Given the description of an element on the screen output the (x, y) to click on. 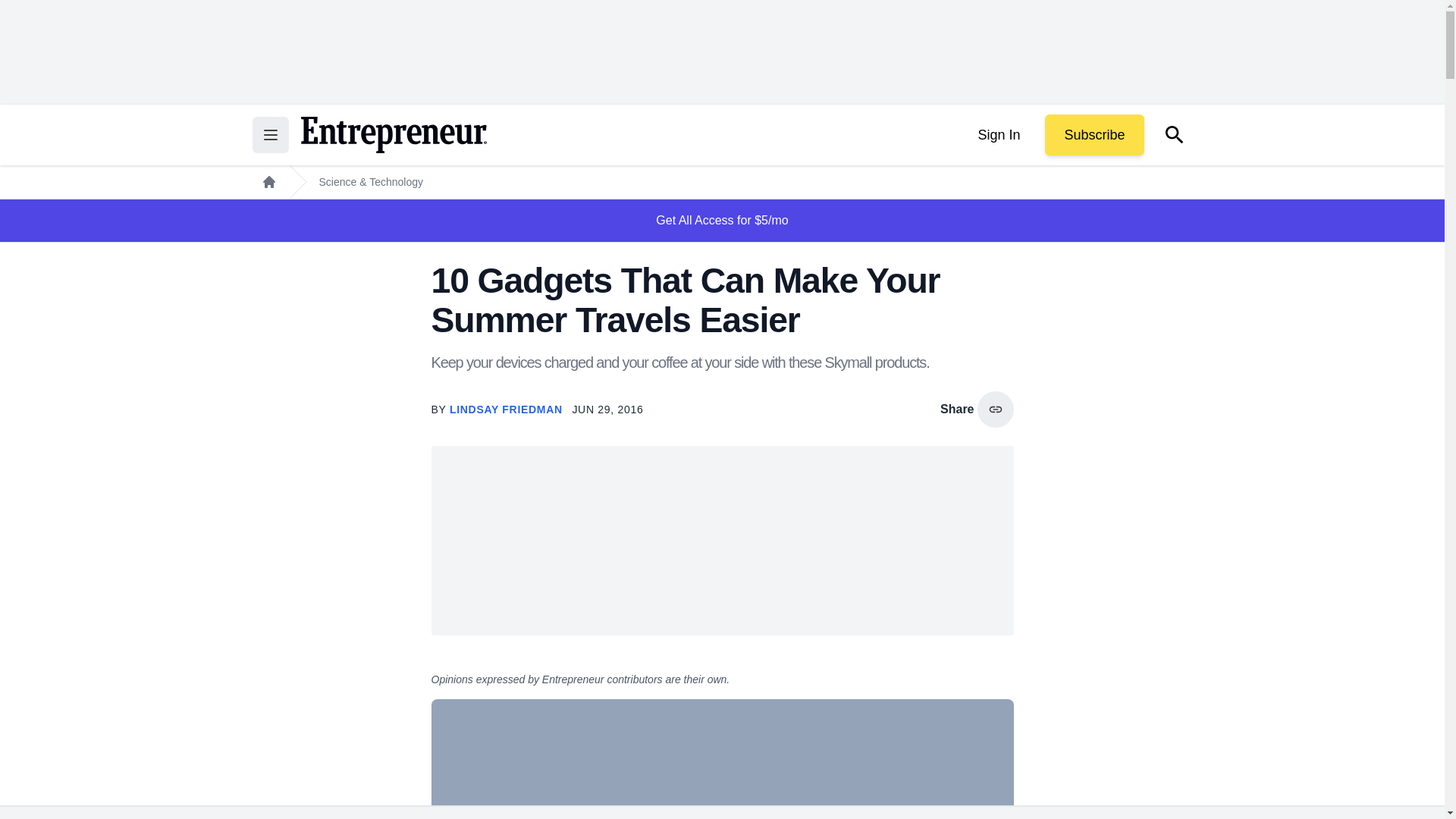
Sign In (998, 134)
copy (994, 409)
Subscribe (1093, 134)
Return to the home page (392, 135)
